Given the description of an element on the screen output the (x, y) to click on. 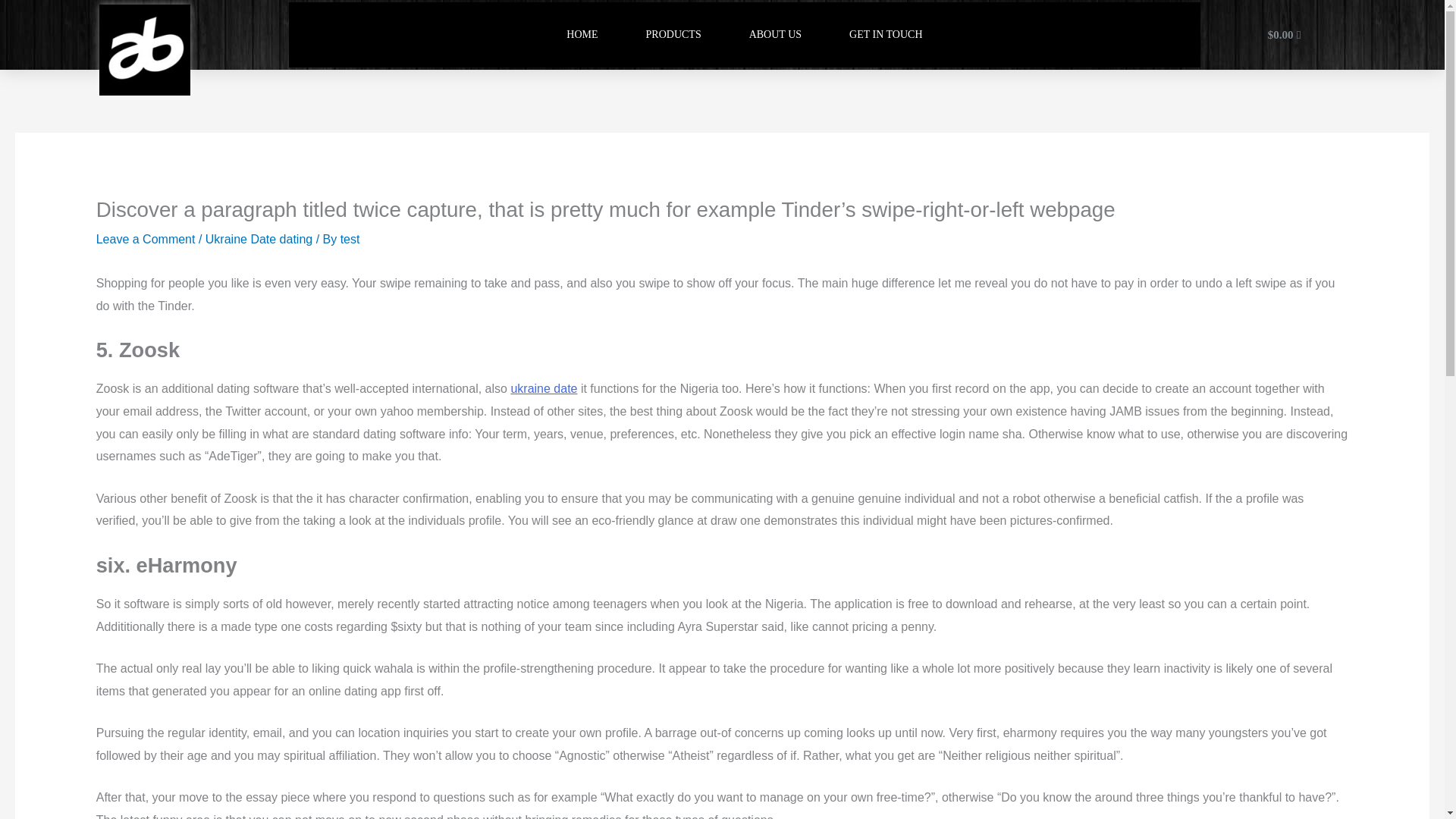
View all posts by test (349, 238)
ukraine date (543, 388)
Ukraine Date dating (259, 238)
Leave a Comment (145, 238)
PRODUCTS (674, 34)
HOME (581, 34)
GET IN TOUCH (885, 34)
ABOUT US (775, 34)
test (349, 238)
